Given the description of an element on the screen output the (x, y) to click on. 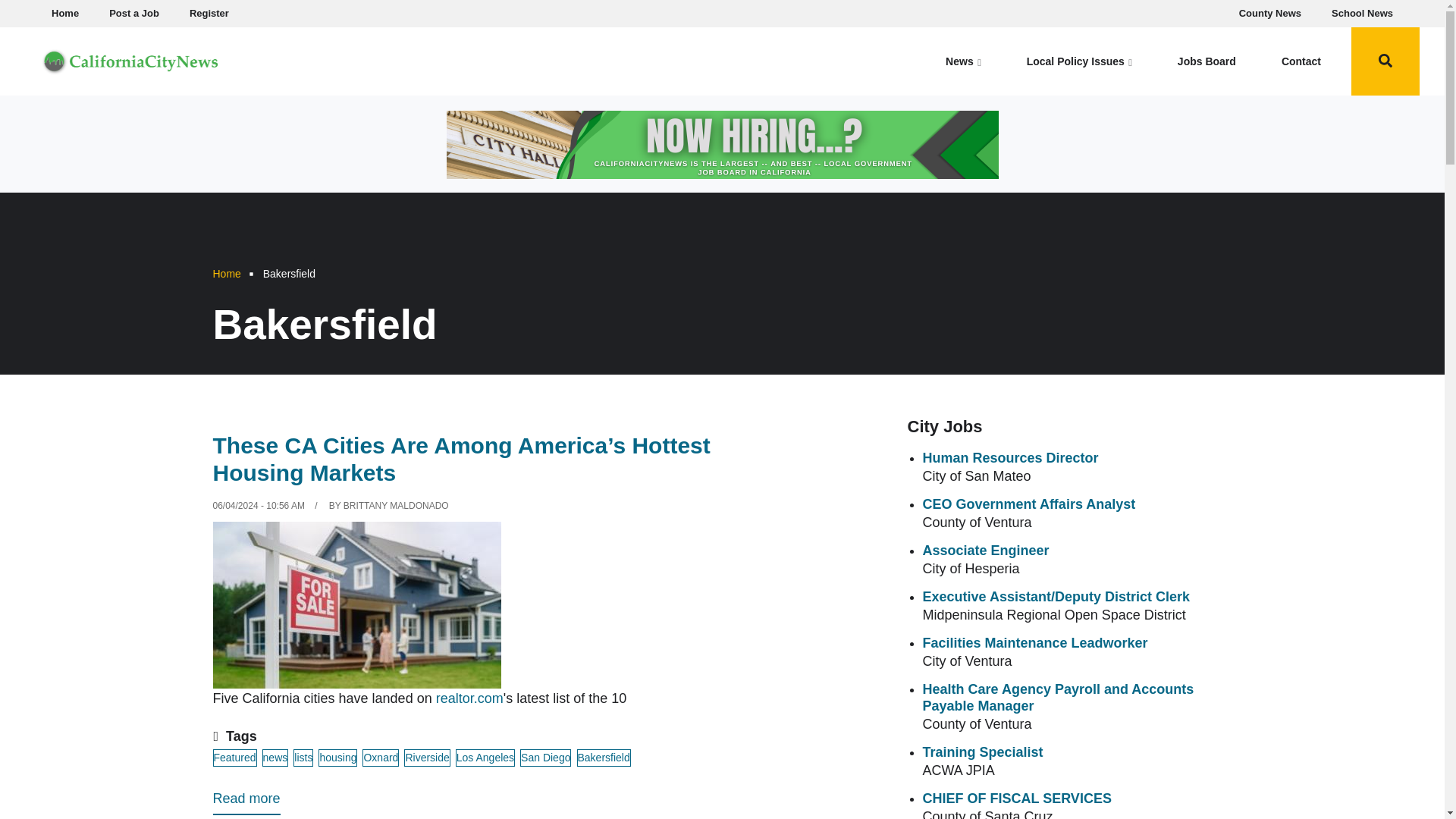
San Diego (544, 757)
Oxnard (380, 757)
Jobs Board (1206, 61)
Los Angeles (485, 757)
Riverside (426, 757)
Home (226, 273)
realtor.com (469, 698)
Featured (234, 757)
Register (208, 13)
Home (130, 59)
County News (1269, 13)
housing (337, 757)
news (275, 757)
Home (64, 13)
